Given the description of an element on the screen output the (x, y) to click on. 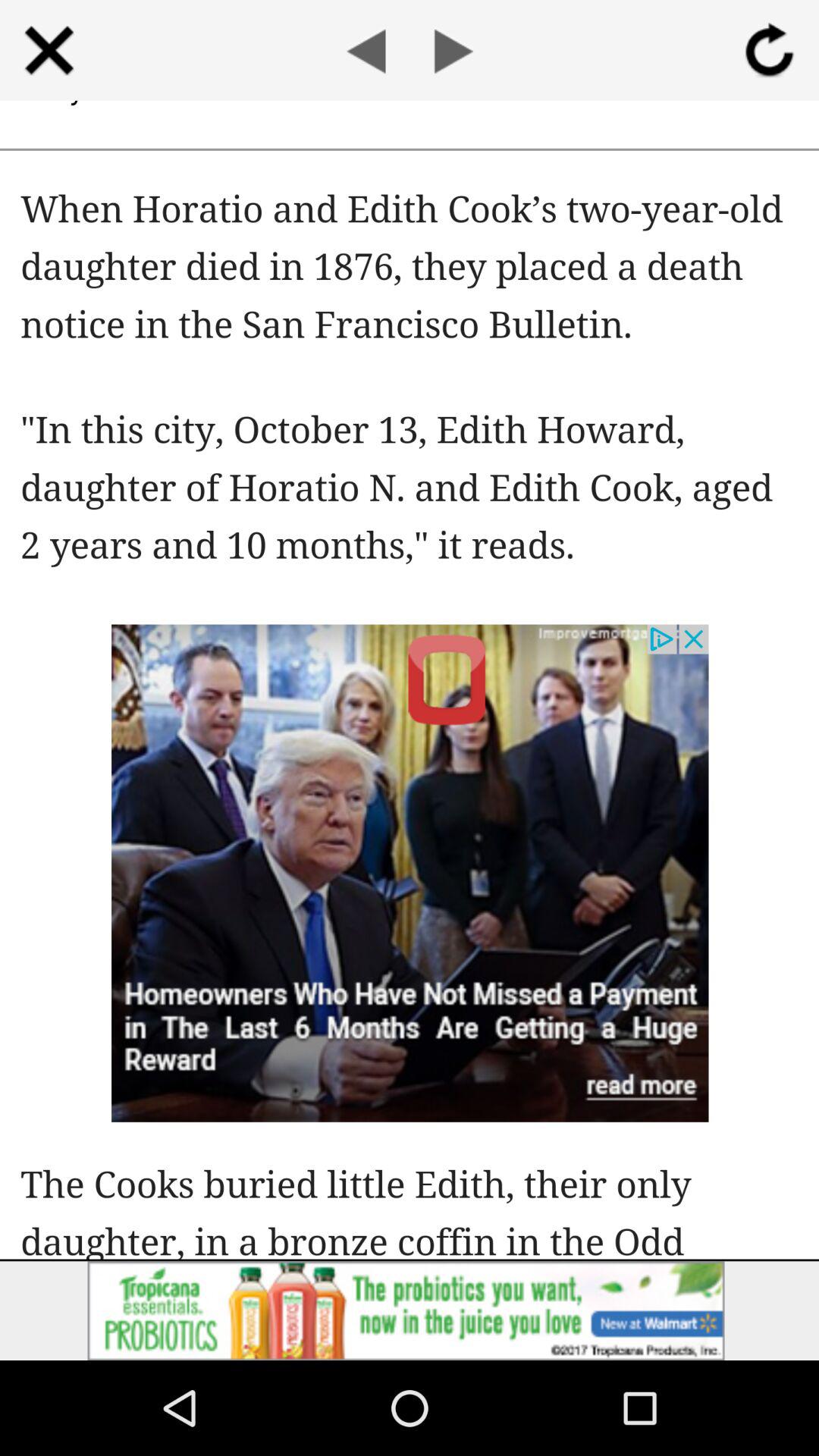
view next (453, 49)
